Given the description of an element on the screen output the (x, y) to click on. 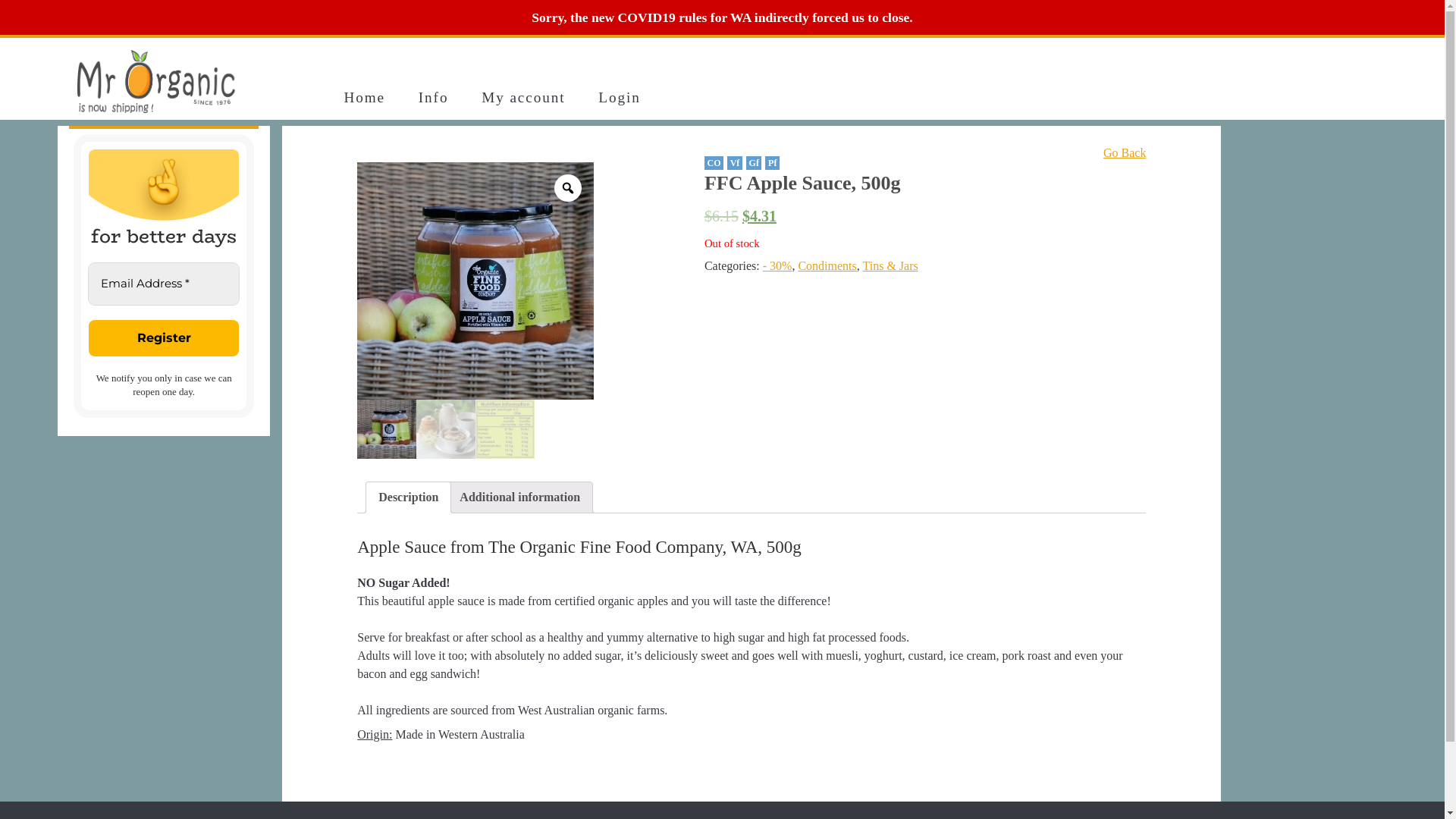
Login Element type: text (619, 97)
Info Element type: text (432, 97)
Description Element type: text (408, 497)
Organic-Fine-Food-Apple-Sauce-Ingredients.jpg Element type: hover (238, 282)
Organic-Fine-Food-Apple-Sauce-Ad-e1612623557982.jpg Element type: hover (445, 428)
Tins & Jars Element type: text (890, 265)
Organic-Fine-Food-Apple-Sauce-e1612623654637.jpg Element type: hover (386, 428)
Email Address Element type: hover (163, 283)
Organic-Fine-Food-Apple-Sauce-e1612623654637.jpg Element type: hover (475, 280)
Home Element type: text (363, 97)
Organic-Fine-Food-Apple-Sauce-Ingredients.jpg Element type: hover (504, 428)
Additional information Element type: text (519, 497)
Register Element type: text (163, 338)
- 30% Element type: text (777, 265)
Go Back Element type: text (1124, 153)
My account Element type: text (523, 97)
Condiments Element type: text (826, 265)
